Given the description of an element on the screen output the (x, y) to click on. 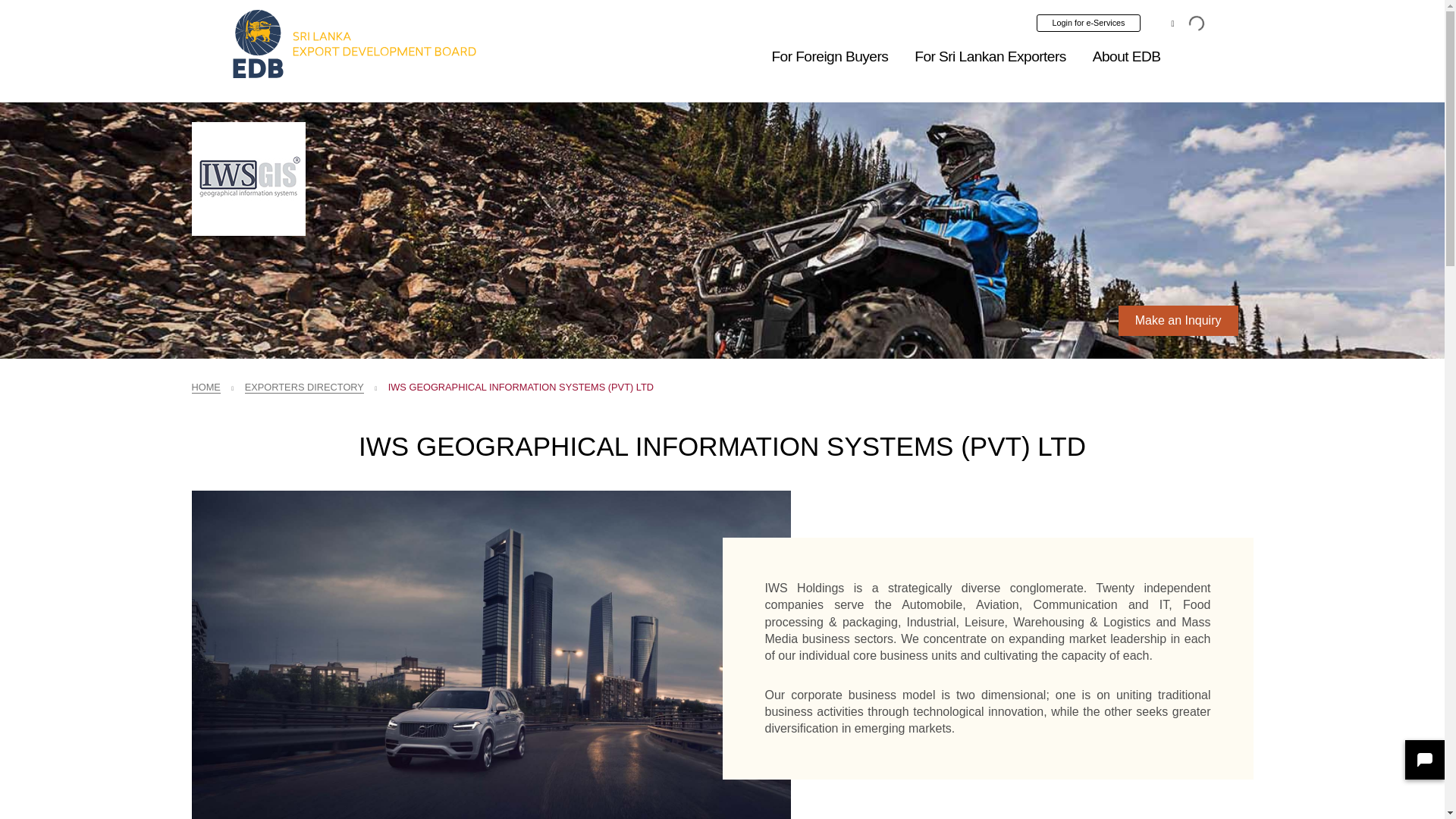
Login for e-Services (1088, 22)
For Sri Lankan Exporters (989, 56)
Make an Inquiry (1178, 320)
Export Development Board  (354, 43)
Make an Inquiry (1178, 320)
About EDB (1126, 56)
HOME (204, 387)
For Foreign Buyers (829, 56)
Login for e-Services (1088, 22)
EXPORTERS DIRECTORY (304, 387)
